Given the description of an element on the screen output the (x, y) to click on. 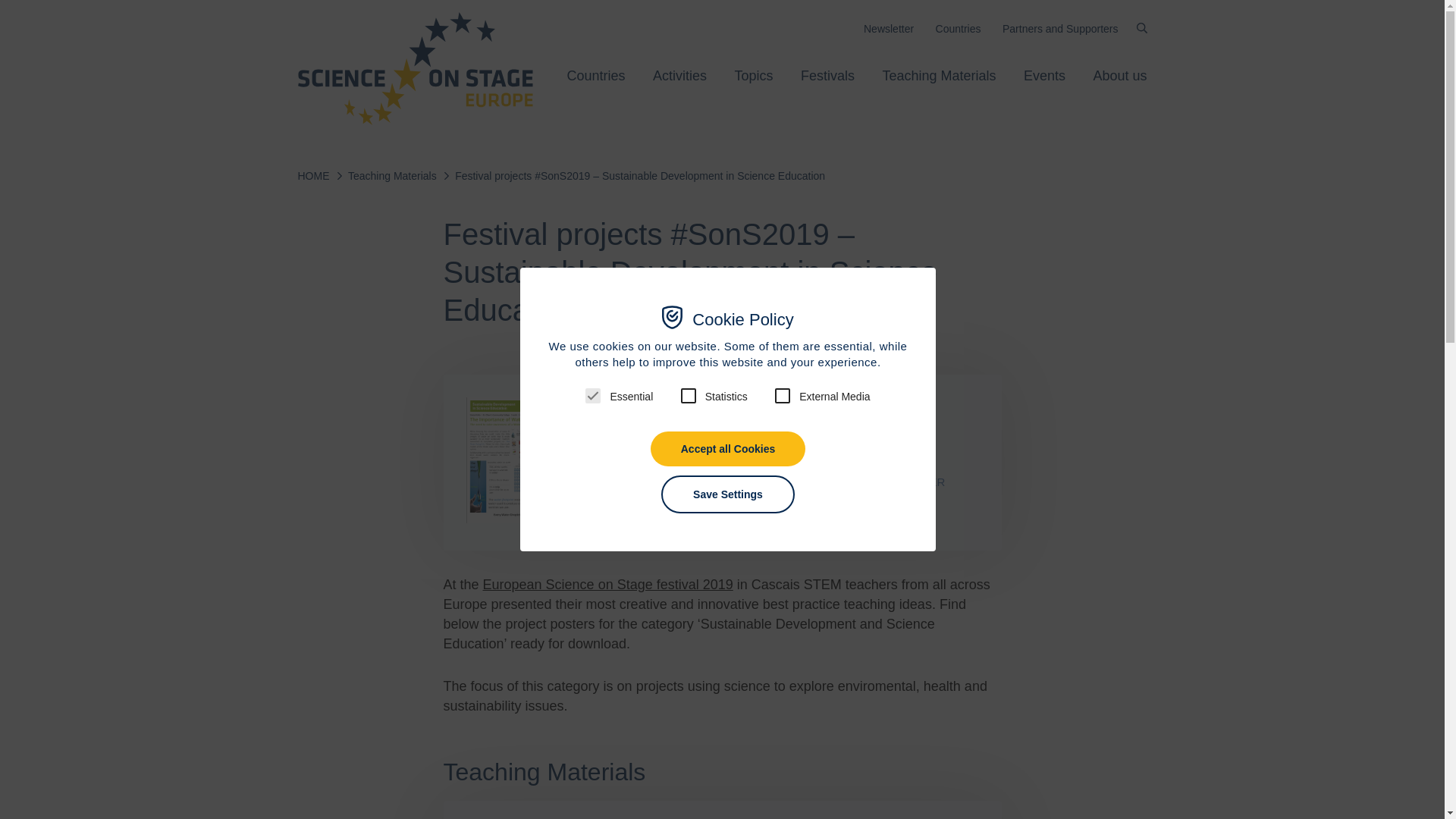
Save Settings (727, 494)
Teaching Materials (938, 75)
Topics (753, 75)
Countries (596, 75)
Home page (414, 68)
Activities (679, 75)
Festivals (827, 75)
Events (1044, 75)
Suche (1141, 27)
Accept all Cookies (728, 448)
